Given the description of an element on the screen output the (x, y) to click on. 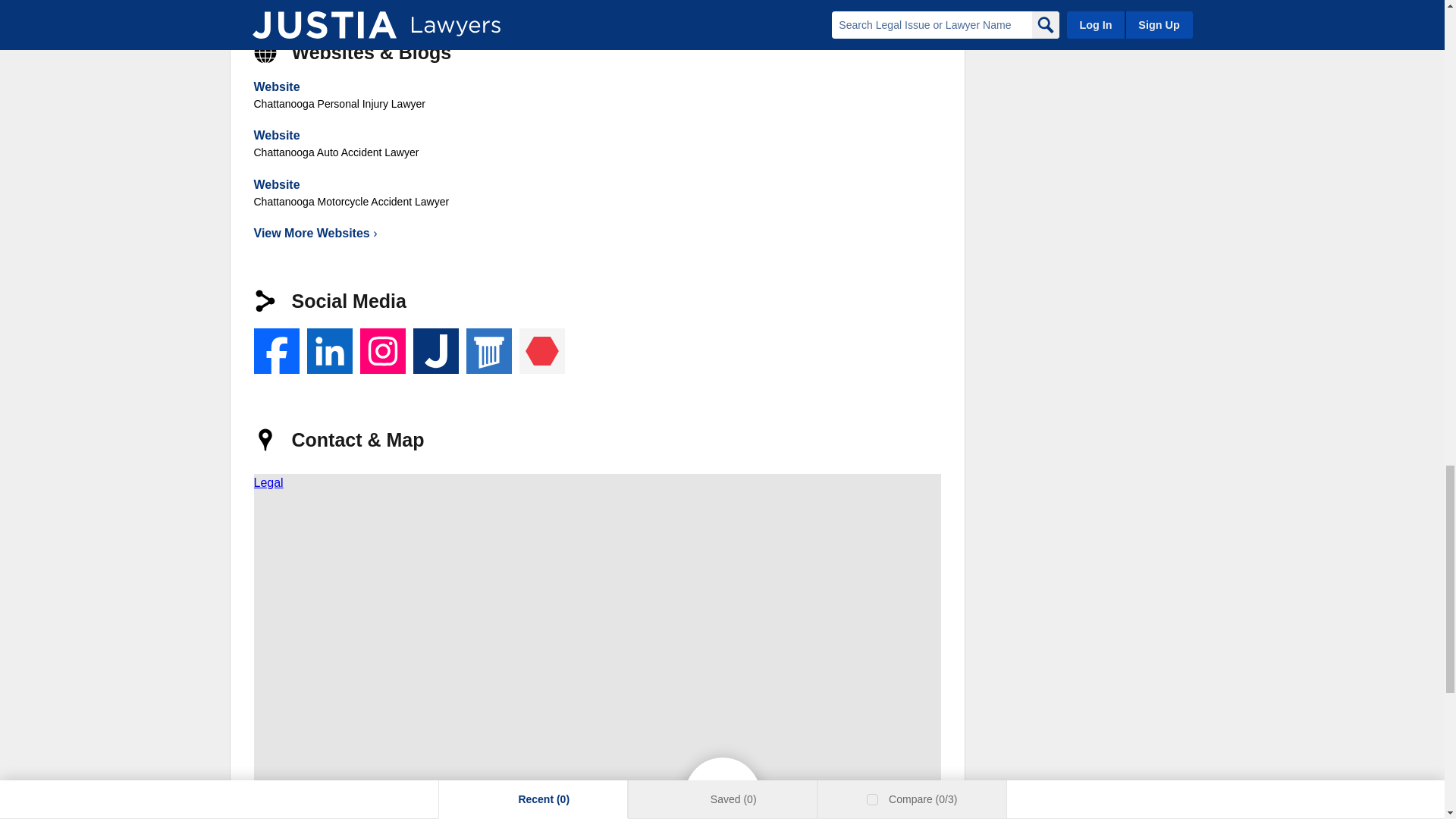
Website (276, 134)
Zachary England on LinkedIn (328, 350)
Zachary England on Facebook (275, 350)
Website (276, 184)
Website (276, 86)
 Justia Profile (435, 350)
Zachary England's Martindale Profile (541, 350)
Zachary England's Lawyers.com Profile (488, 350)
Zachary England on Instagram (381, 350)
